Given the description of an element on the screen output the (x, y) to click on. 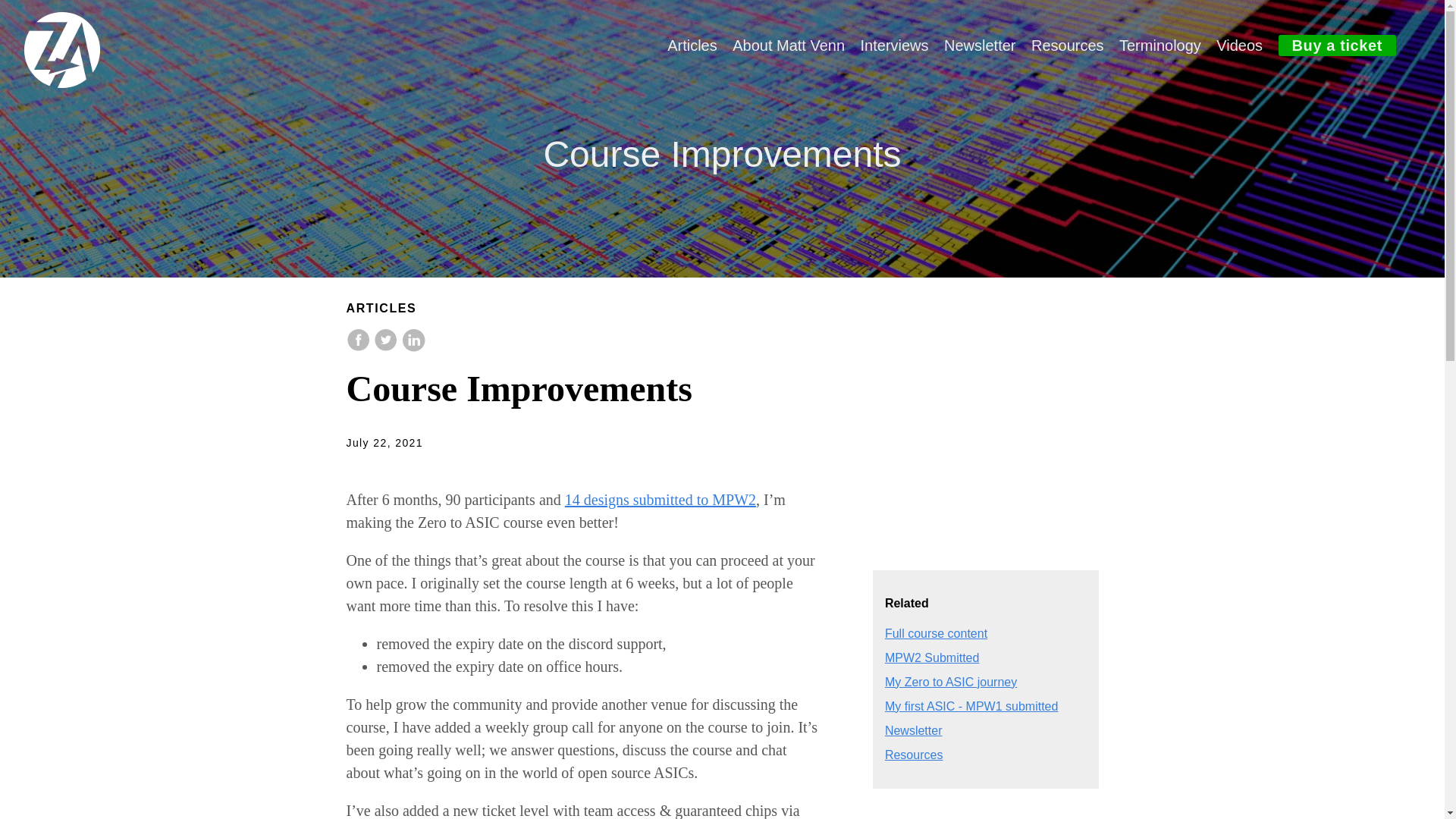
Buy a ticket page (1337, 45)
Terminology (1160, 45)
Newsletter (913, 730)
Articles page (691, 45)
Interviews (894, 45)
14 designs submitted to MPW2 (659, 499)
Newsletter (978, 45)
Terminology page (1160, 45)
Videos (1238, 45)
About Matt Venn (788, 45)
MPW2 Submitted (931, 657)
Articles (691, 45)
My first ASIC - MPW1 submitted (971, 706)
Resources page (1066, 45)
Videos page (1238, 45)
